Given the description of an element on the screen output the (x, y) to click on. 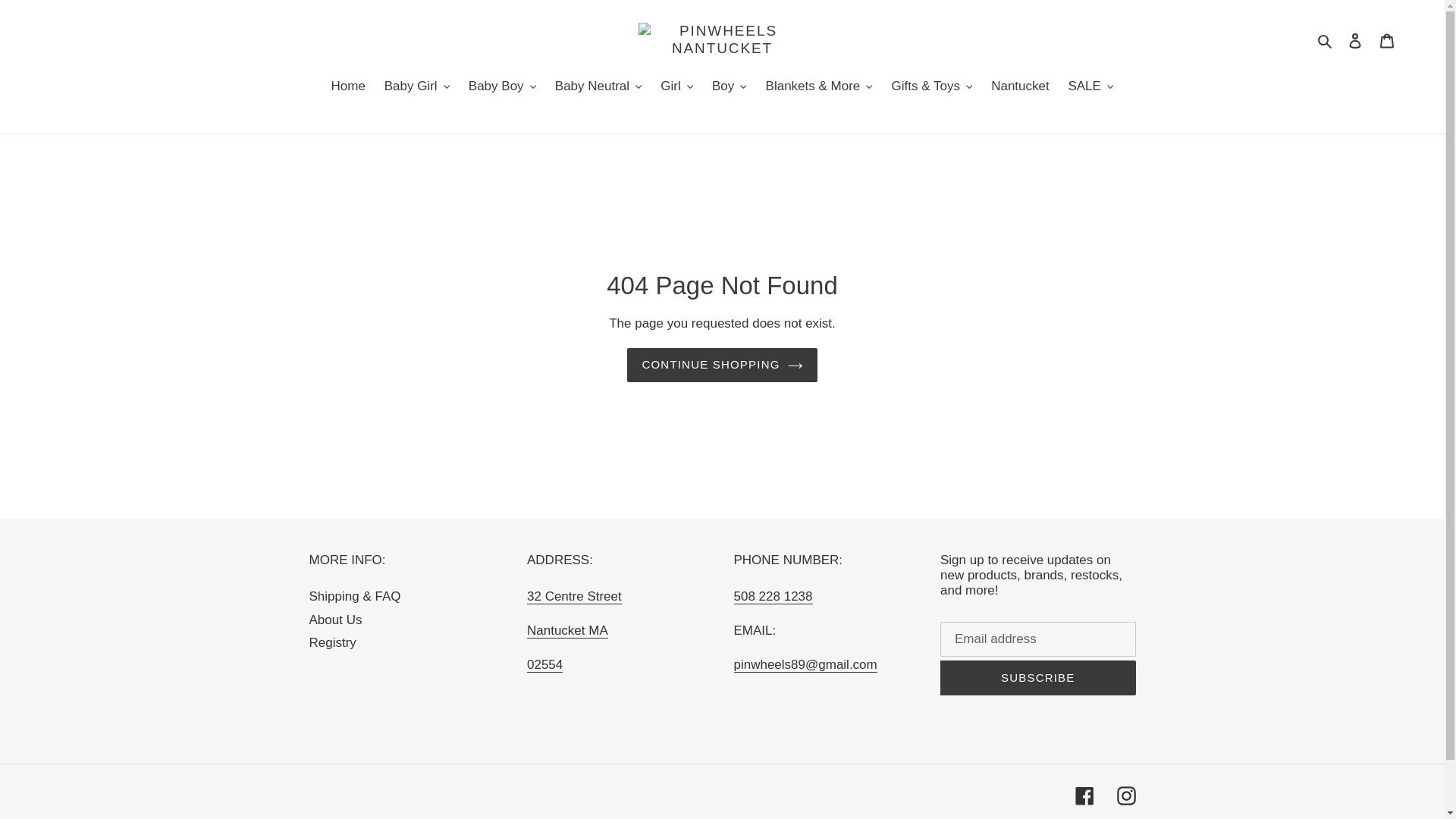
tel: 508 228 1238 (772, 596)
Search (1326, 39)
Log in (1355, 39)
Cart (1387, 39)
